Given the description of an element on the screen output the (x, y) to click on. 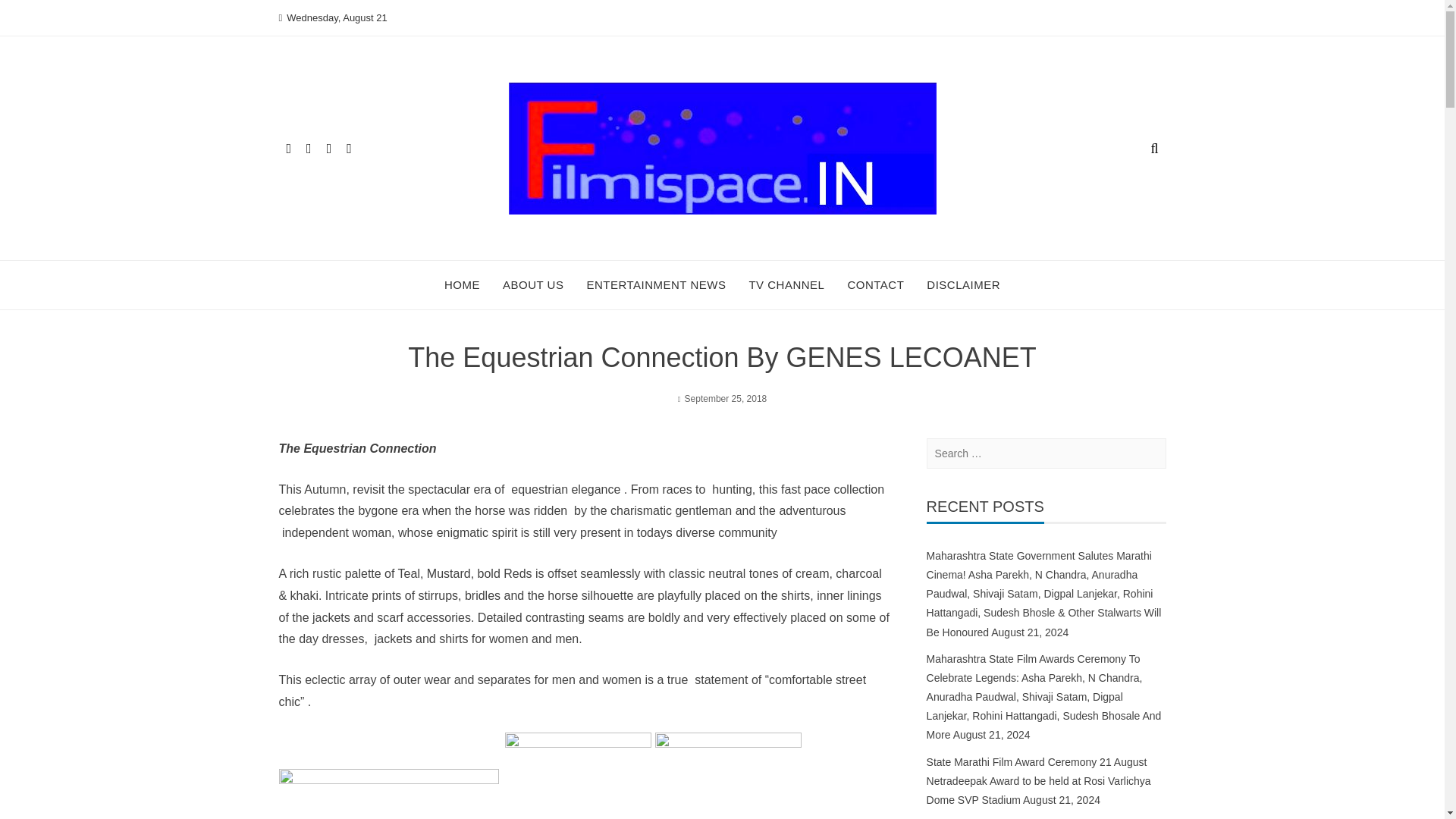
CONTACT (875, 284)
Search (32, 15)
TV CHANNEL (786, 284)
DISCLAIMER (963, 284)
ENTERTAINMENT NEWS (655, 284)
HOME (462, 284)
ABOUT US (532, 284)
